Given the description of an element on the screen output the (x, y) to click on. 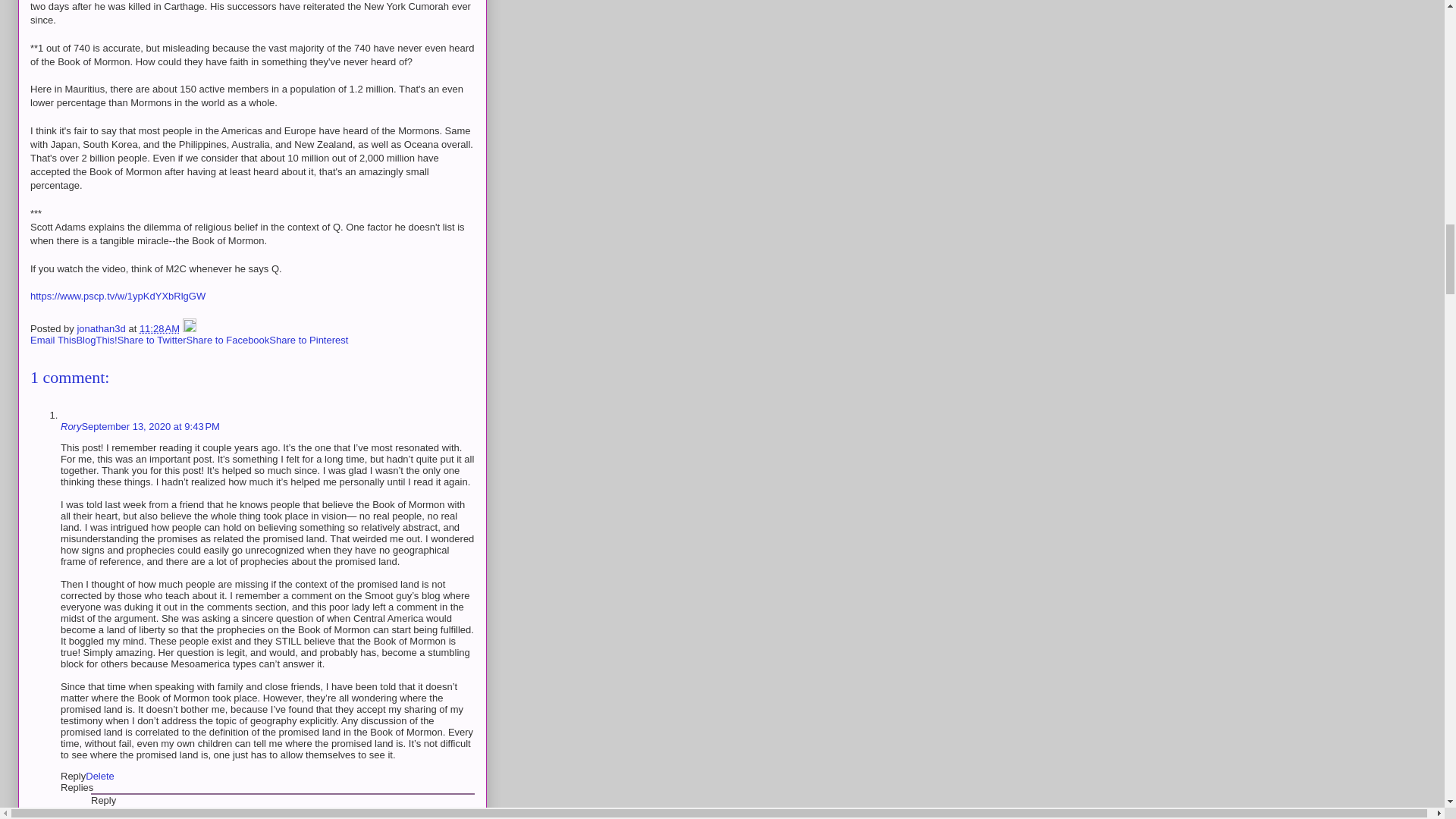
BlogThis! (95, 339)
author profile (102, 328)
Share to Facebook (227, 339)
Reply (73, 776)
Share to Pinterest (308, 339)
permanent link (159, 328)
jonathan3d (102, 328)
Share to Twitter (151, 339)
Share to Facebook (227, 339)
Email This (52, 339)
Email This (52, 339)
Replies (77, 787)
Edit Post (189, 328)
BlogThis! (95, 339)
